Given the description of an element on the screen output the (x, y) to click on. 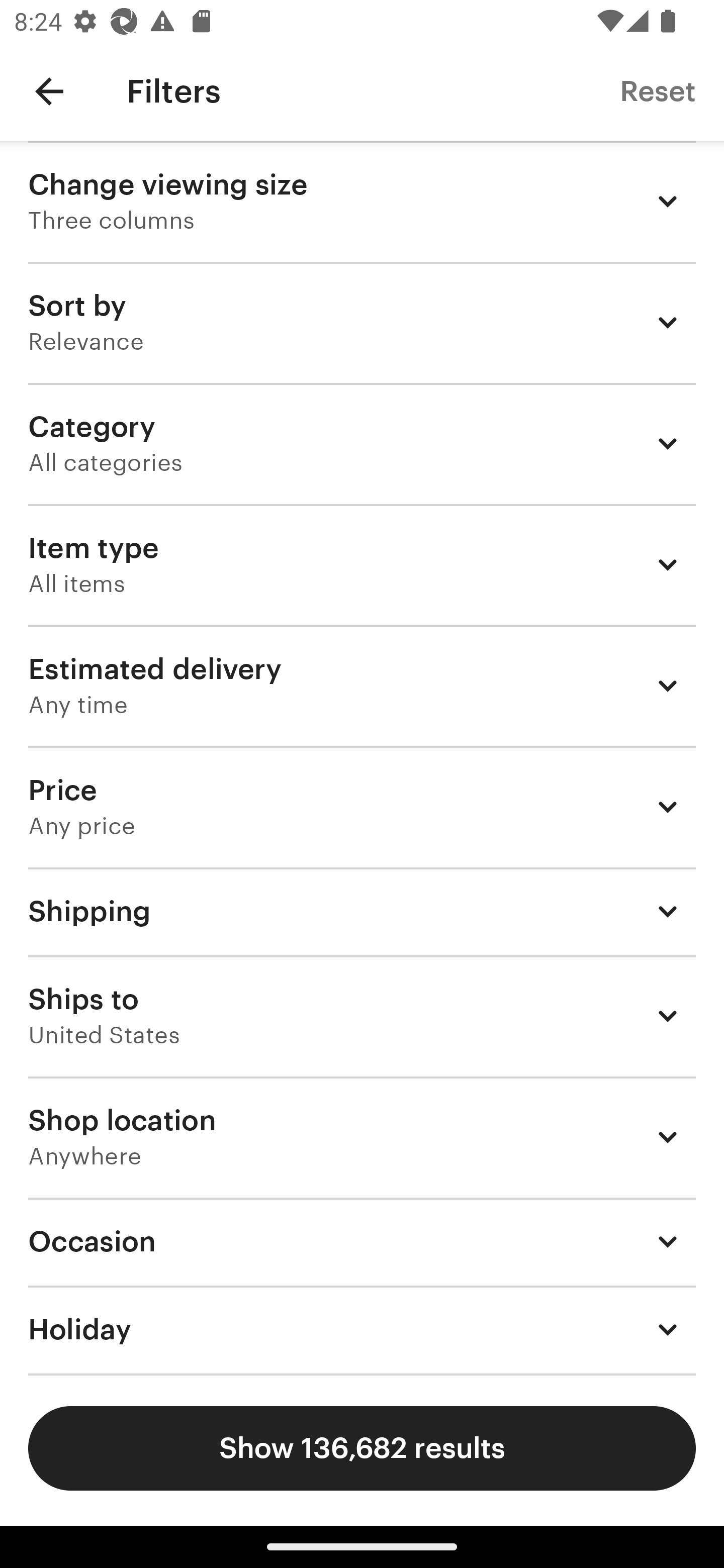
Navigate up (49, 91)
Reset (657, 90)
Change viewing size Three columns (362, 201)
Sort by Relevance (362, 321)
Category All categories (362, 442)
Item type All items (362, 564)
Estimated delivery Any time (362, 685)
Price Any price (362, 806)
Shipping (362, 910)
Ships to United States (362, 1015)
Shop location Anywhere (362, 1137)
Occasion (362, 1241)
Holiday (362, 1329)
Show 136,682 results Show results (361, 1448)
